Given the description of an element on the screen output the (x, y) to click on. 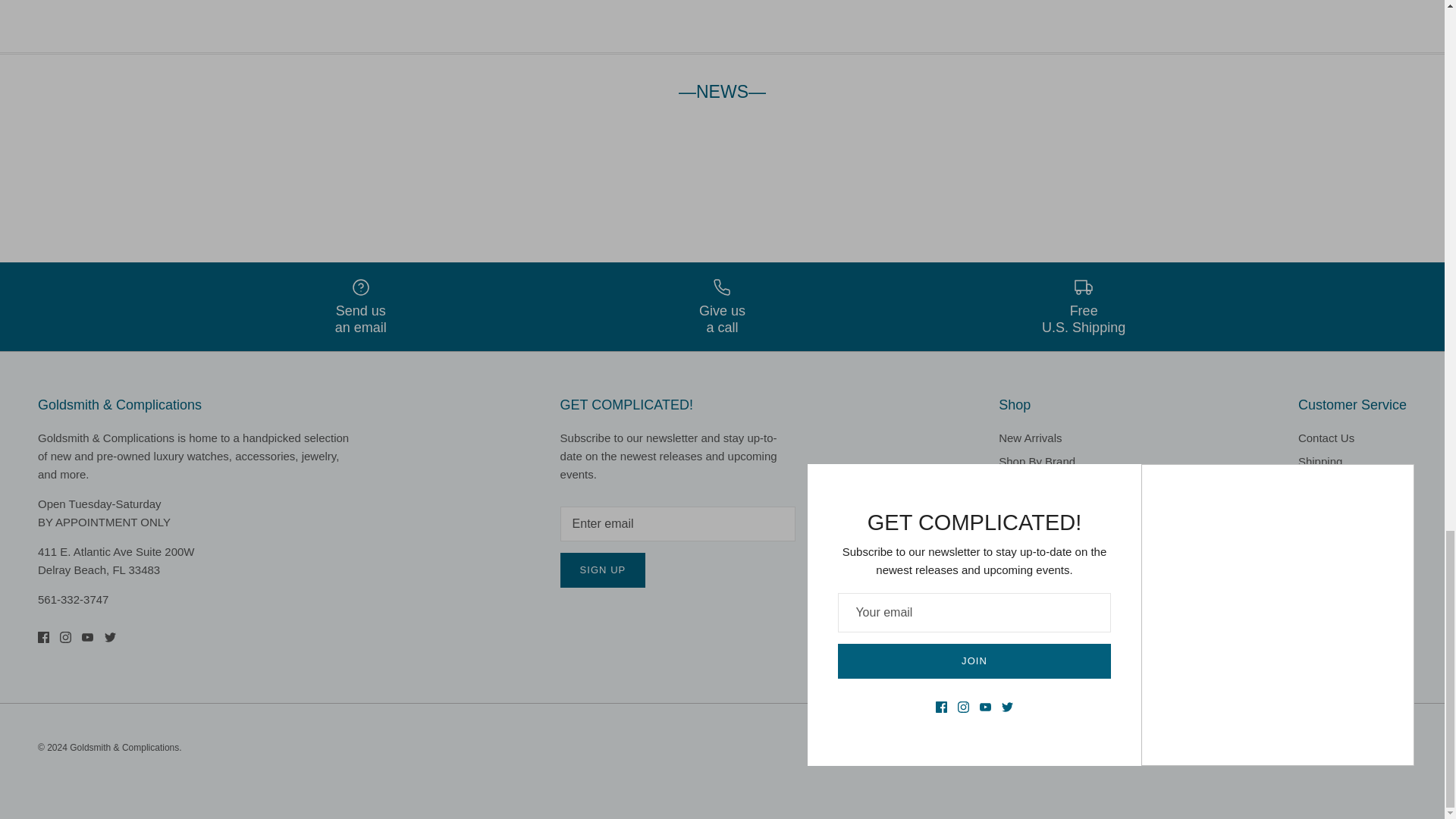
Youtube (87, 636)
Twitter (110, 636)
tel:561-332-3747 (72, 599)
Instagram (65, 636)
Facebook (43, 636)
